Given the description of an element on the screen output the (x, y) to click on. 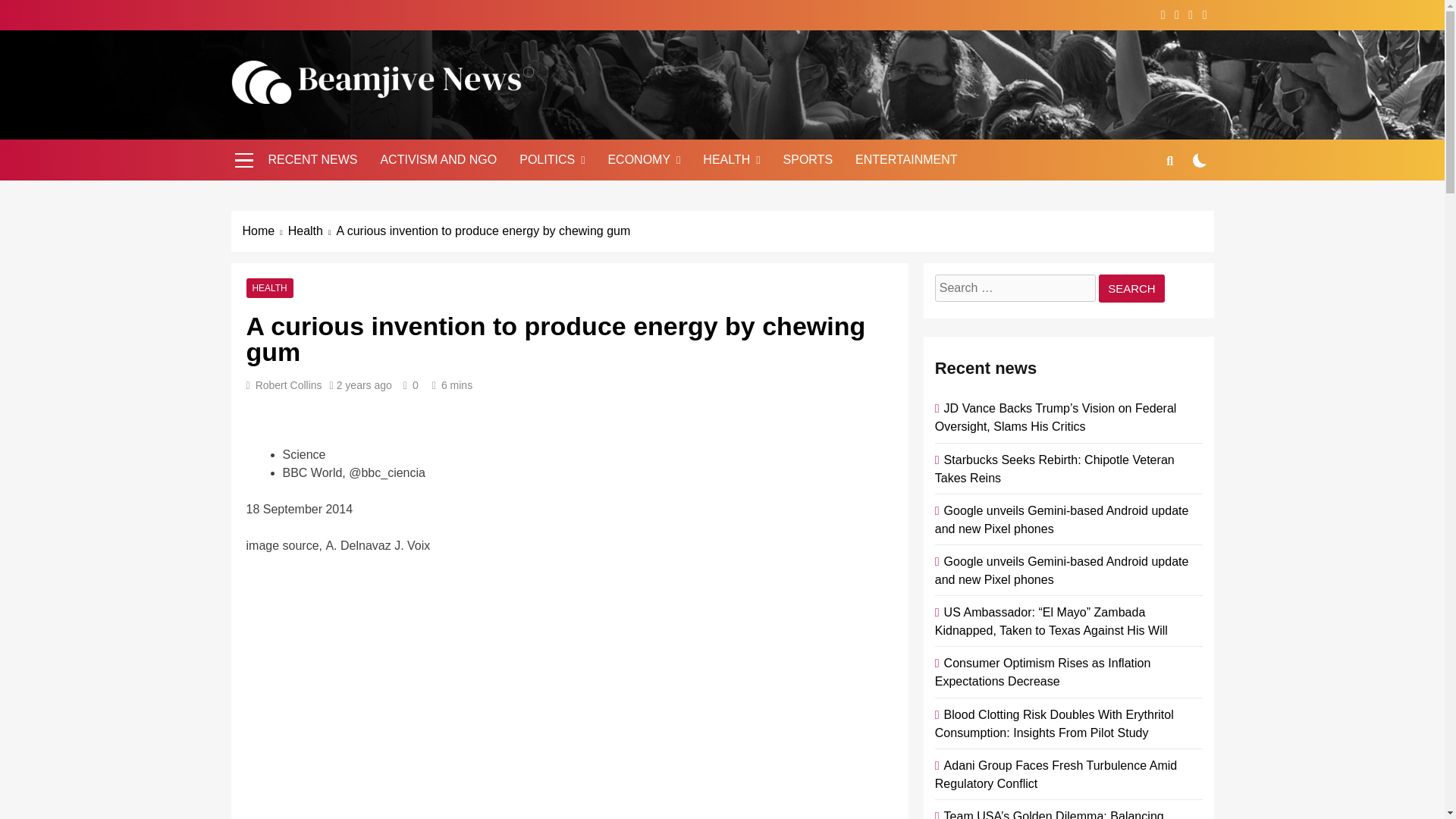
ENTERTAINMENT (906, 159)
SPORTS (807, 159)
HEALTH (731, 159)
Home (265, 230)
HEALTH (268, 287)
Beamjive News (346, 125)
Robert Collins (288, 385)
Health (312, 230)
on (1199, 160)
ACTIVISM AND NGO (438, 159)
